Given the description of an element on the screen output the (x, y) to click on. 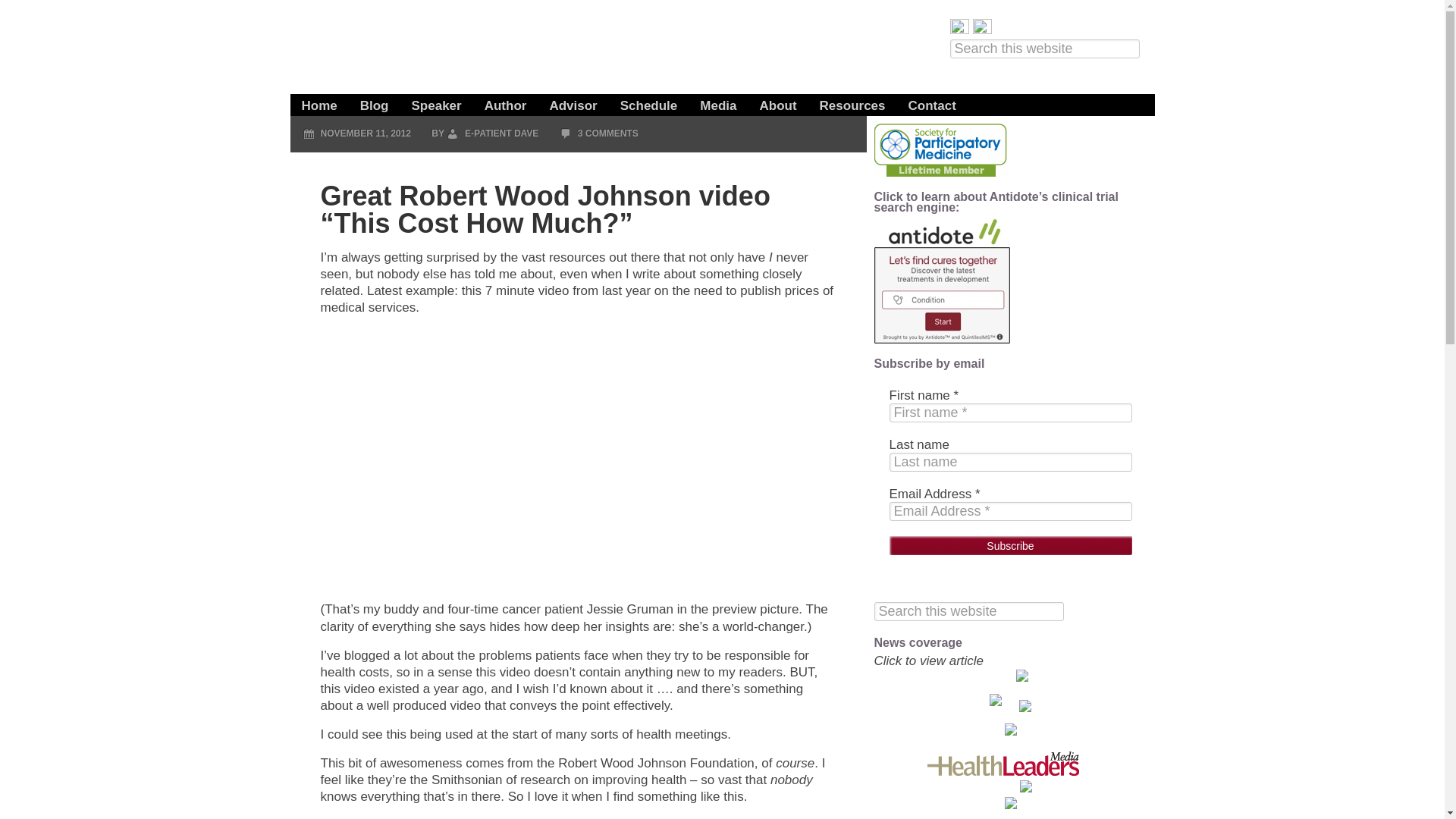
Home (318, 98)
About (778, 98)
Blog (374, 98)
E-PATIENT DAVE (501, 132)
e-Patient Dave (501, 49)
Schedule (648, 98)
Last name (1009, 461)
